Given the description of an element on the screen output the (x, y) to click on. 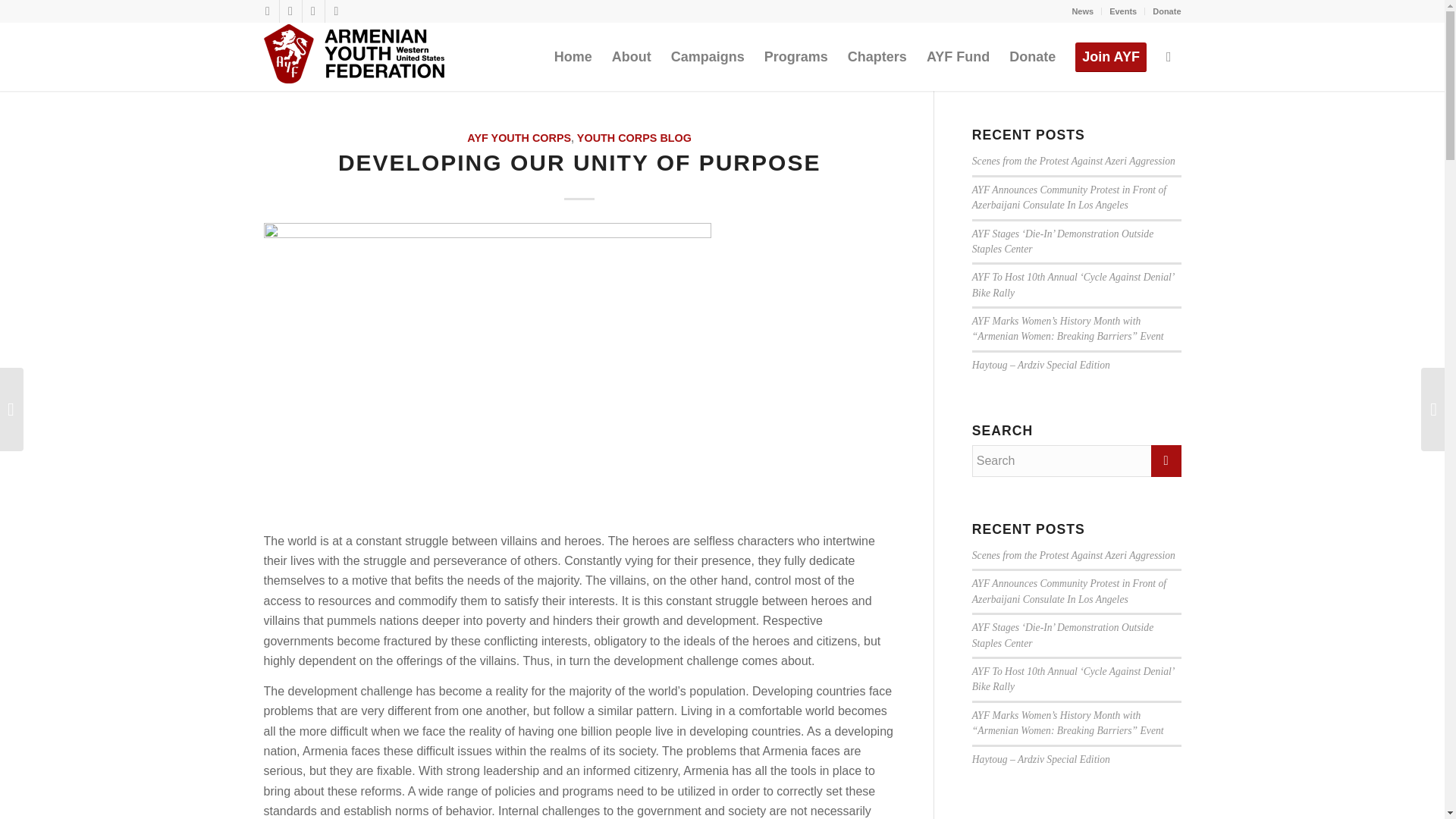
Chapters (877, 56)
armenia-yerevan-mtg (487, 371)
Join AYF (1110, 56)
Programs (796, 56)
AYF Fund (957, 56)
Youtube (335, 11)
News (1082, 11)
Instagram (312, 11)
Donate (1031, 56)
Events (1123, 11)
Permanent Link: Developing Our Unity of Purpose (579, 162)
Donate (1166, 11)
Facebook (267, 11)
DEVELOPING OUR UNITY OF PURPOSE (579, 162)
Campaigns (707, 56)
